Given the description of an element on the screen output the (x, y) to click on. 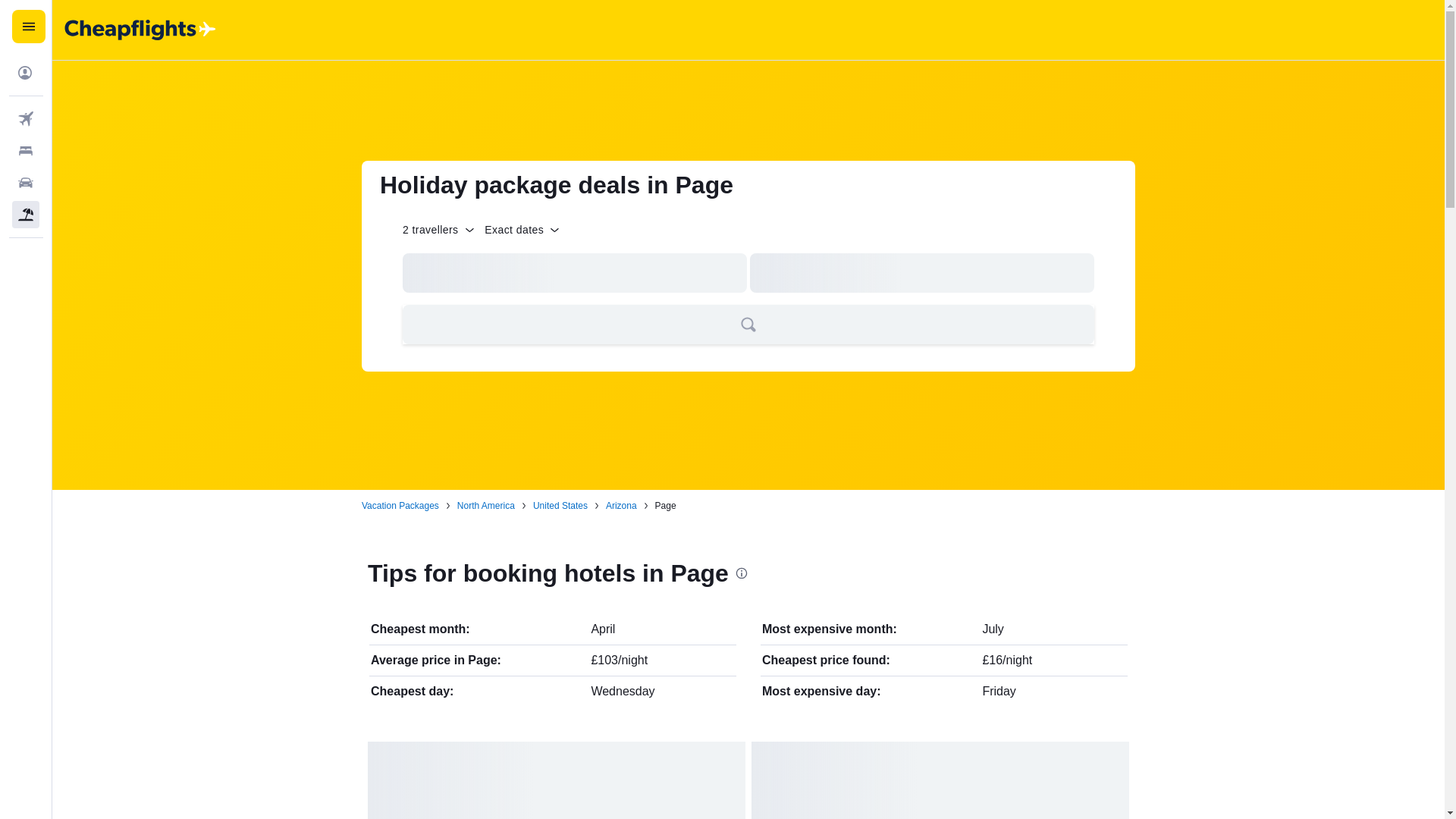
April (602, 628)
North America (486, 505)
Vacation Packages (400, 505)
Wednesday (622, 690)
July (992, 628)
Arizona (621, 505)
Friday (997, 690)
United States (560, 505)
